Given the description of an element on the screen output the (x, y) to click on. 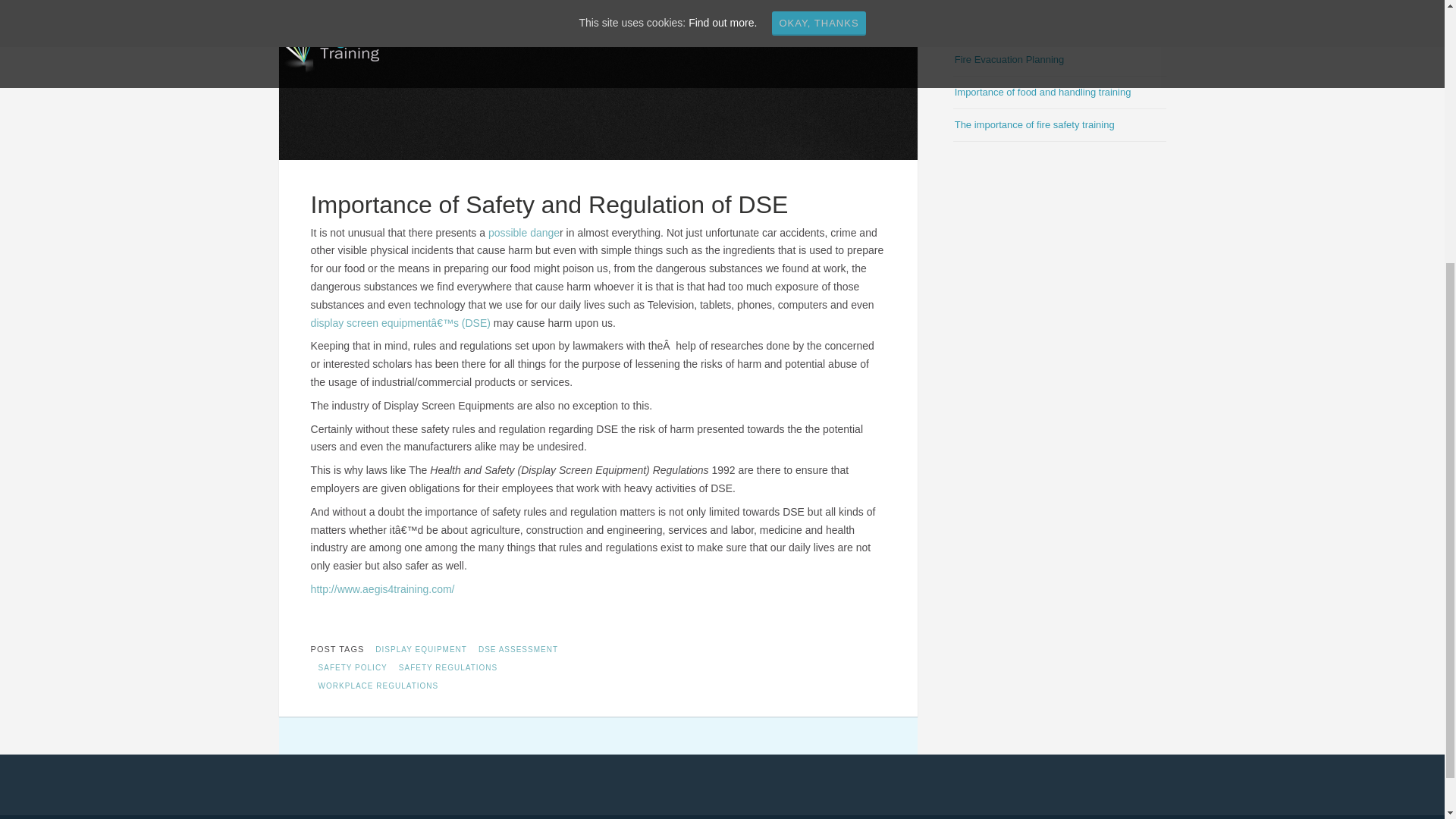
WORKPLACE REGULATIONS (378, 685)
The importance of fire safety training (1035, 124)
DISPLAY EQUIPMENT (420, 649)
SAFETY REGULATIONS (447, 667)
Importance of food and handling training (1043, 91)
How important is Fire Alarms in the UK (1039, 26)
DSE ASSESSMENT (518, 649)
possible dange (523, 232)
Fire Evacuation Planning (1009, 59)
SAFETY POLICY (352, 667)
